Given the description of an element on the screen output the (x, y) to click on. 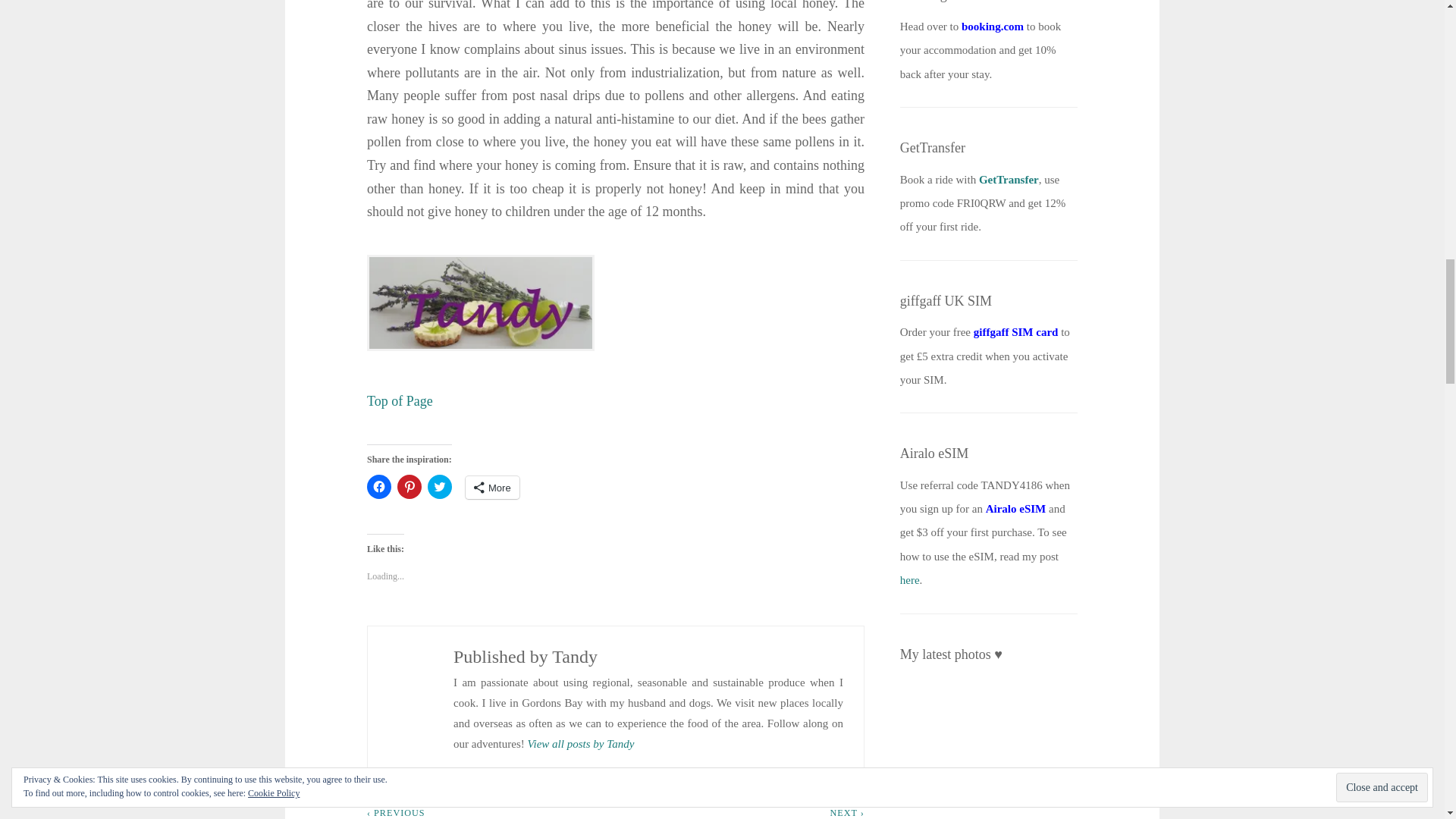
Top of Page (399, 400)
More (492, 486)
Click to share on Pinterest (409, 486)
LAVENDER AND LIME (395, 626)
Click to share on Twitter (439, 486)
View all posts by Tandy (580, 743)
Click to share on Facebook (378, 486)
